Given the description of an element on the screen output the (x, y) to click on. 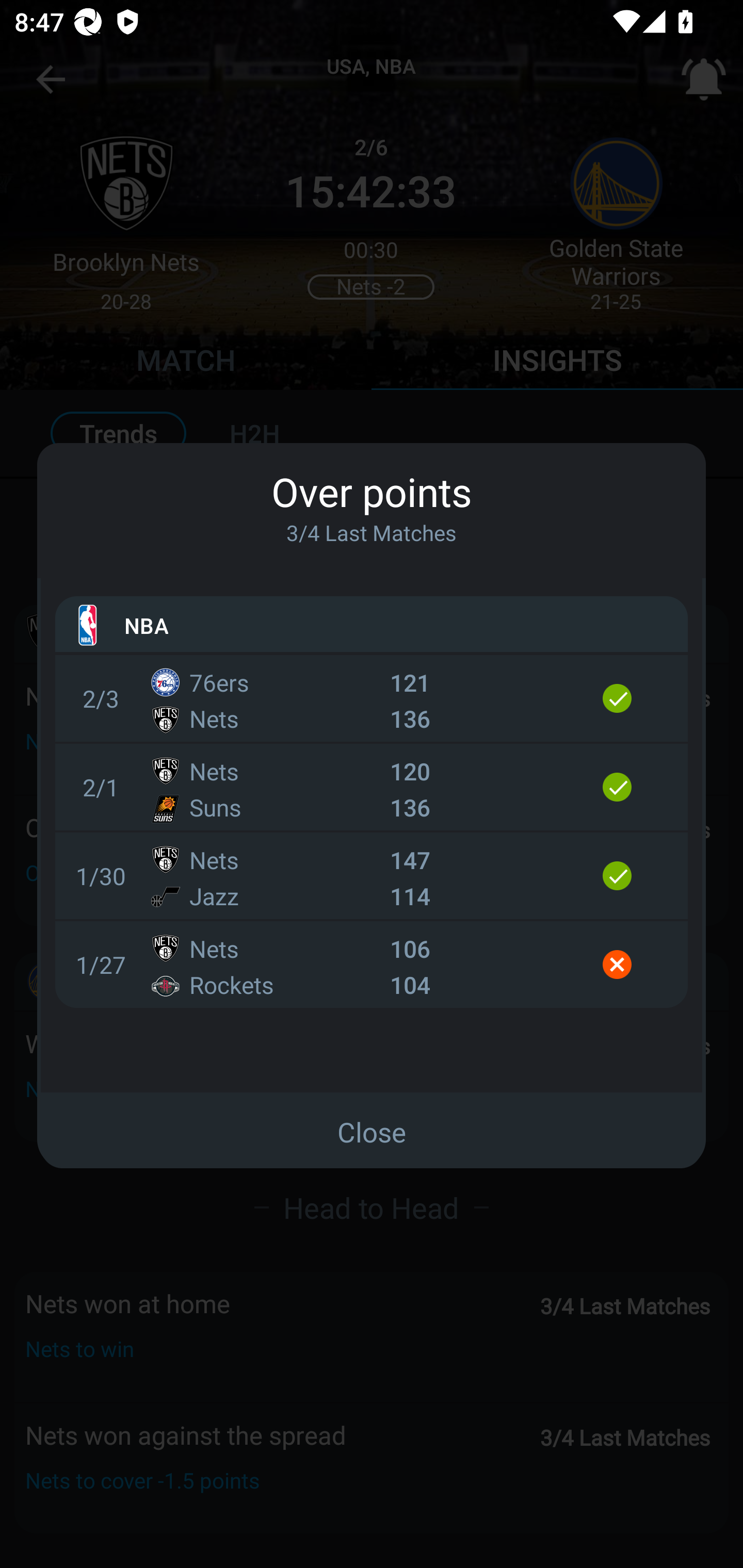
2/3 76ers 121 Nets 136 (371, 698)
2/1 Nets 120 Suns 136 (371, 787)
1/30 Nets 147 Jazz 114 (371, 875)
1/27 Nets 106 Rockets 104 (371, 964)
Close (371, 1132)
